Given the description of an element on the screen output the (x, y) to click on. 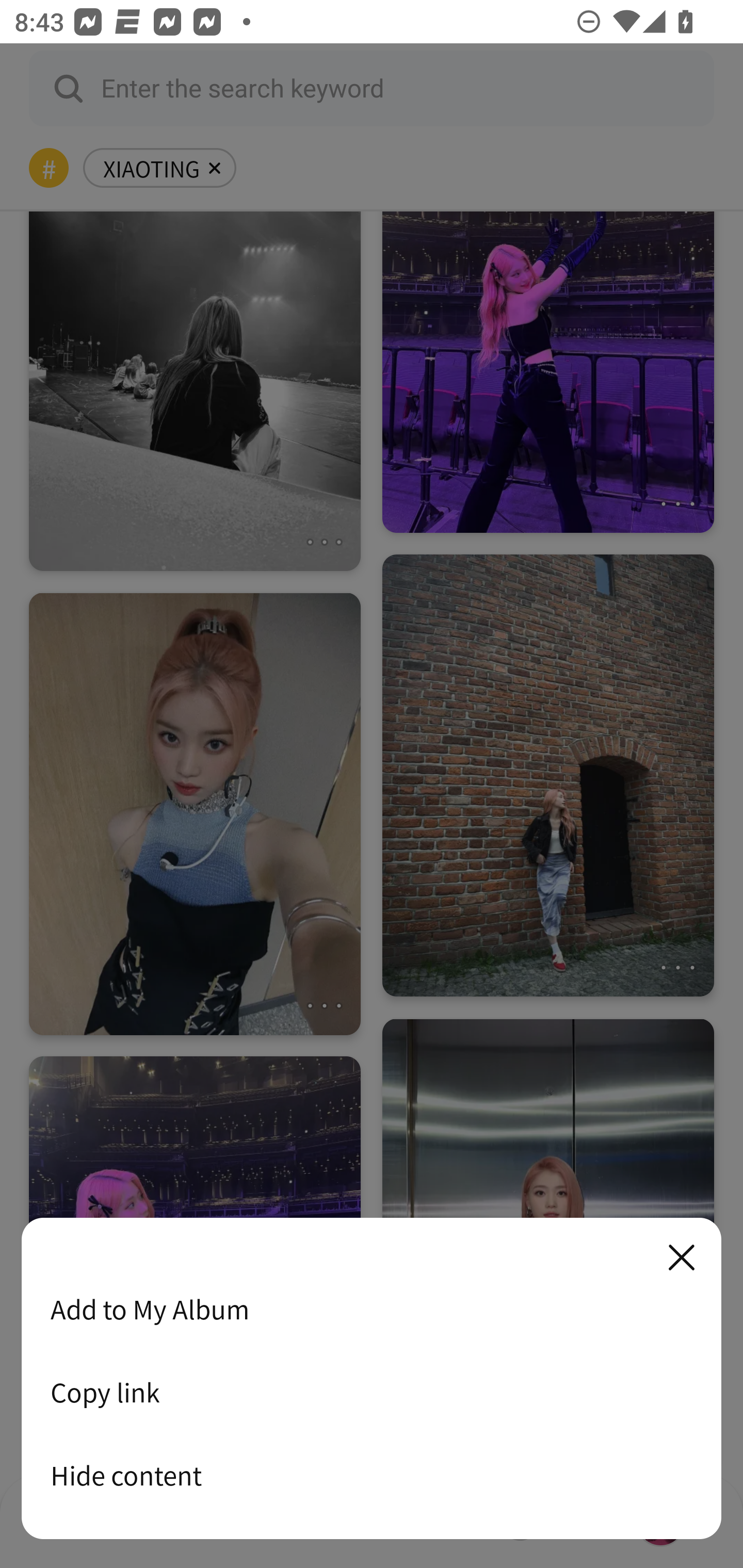
Add to My Album Copy link Hide content (371, 1378)
Add to My Album (371, 1308)
Copy link (371, 1391)
Hide content (371, 1474)
